Given the description of an element on the screen output the (x, y) to click on. 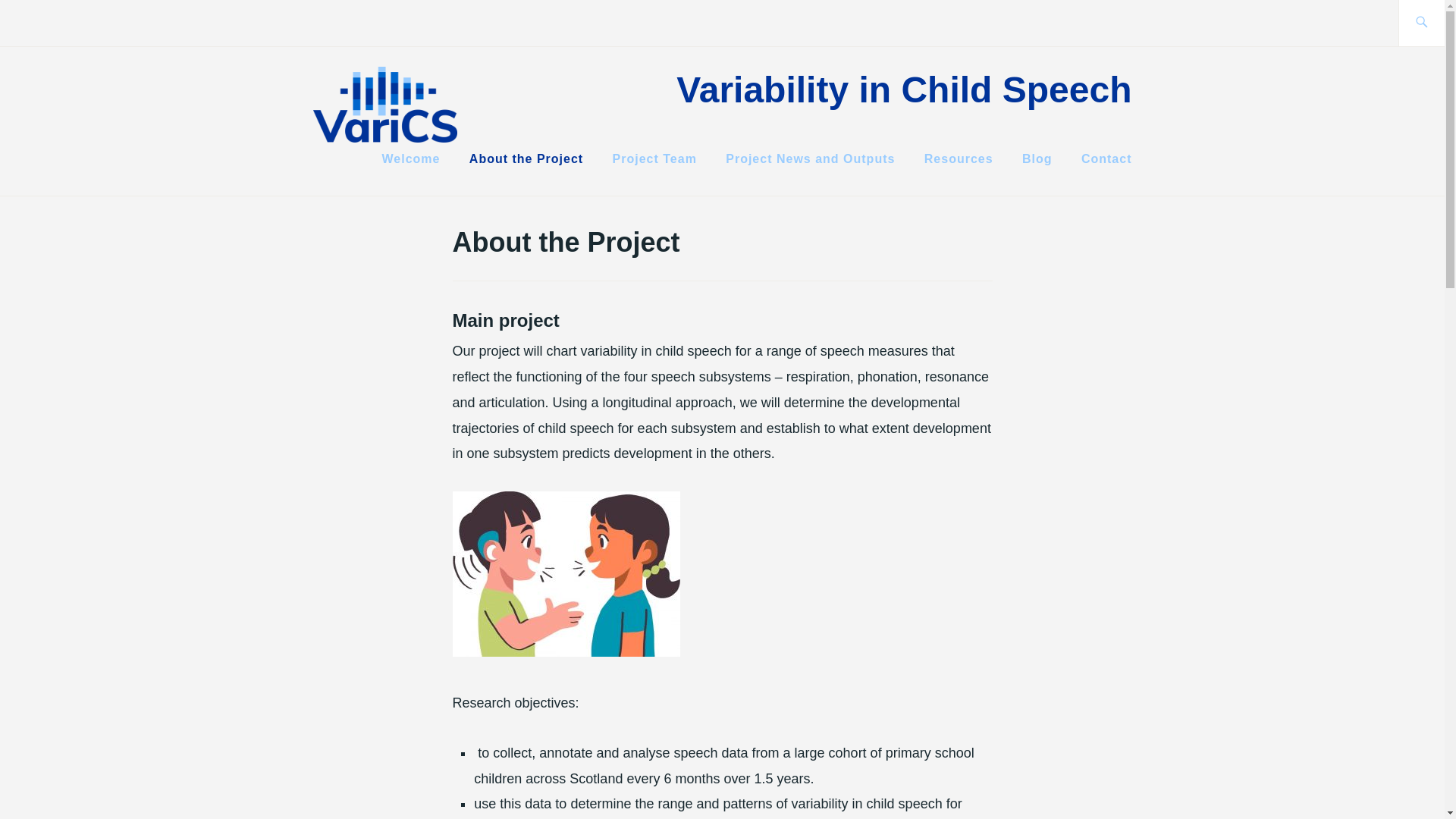
Contact (1106, 159)
Project Team (654, 159)
Resources (958, 159)
Welcome (410, 159)
About the Project (525, 159)
Search (47, 22)
Variability in Child Speech (904, 89)
Blog (1037, 159)
Project News and Outputs (810, 159)
